Given the description of an element on the screen output the (x, y) to click on. 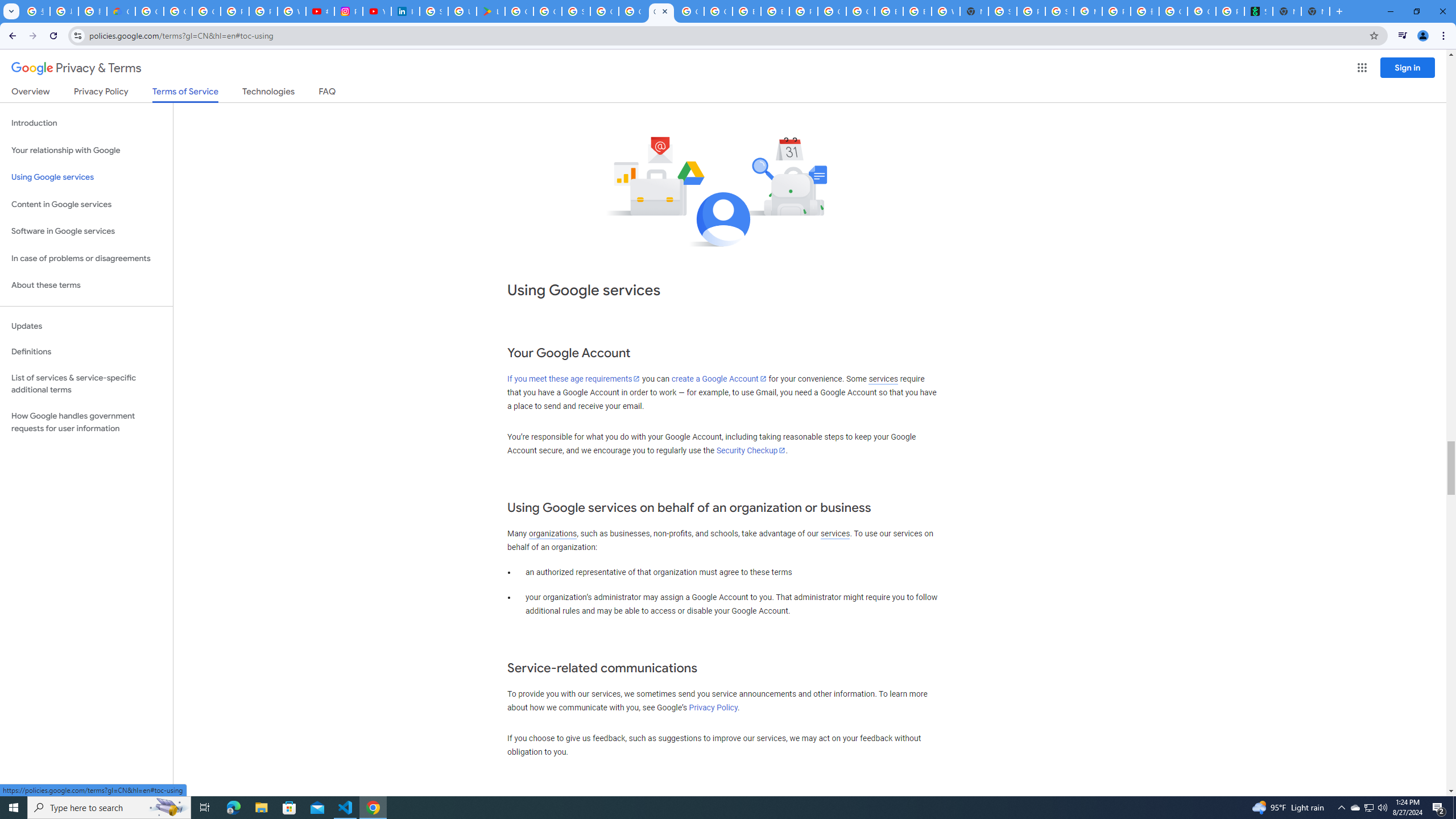
If you meet these age requirements (573, 378)
Browse Chrome as a guest - Computer - Google Chrome Help (774, 11)
How Google handles government requests for user information (86, 422)
Content in Google services (86, 204)
services (834, 533)
